Given the description of an element on the screen output the (x, y) to click on. 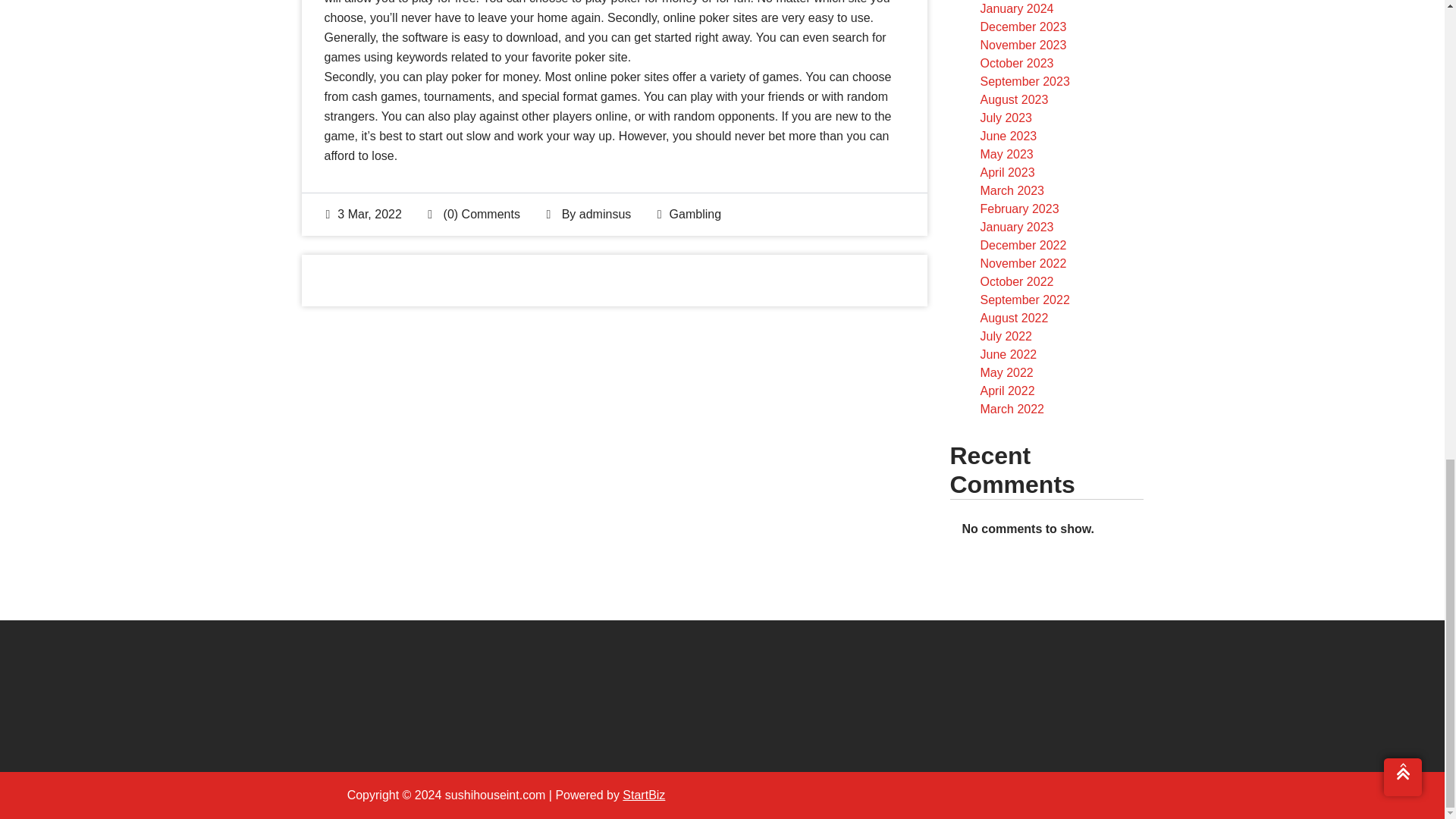
adminsus (604, 214)
September 2023 (1023, 81)
3 Mar, 2022 (363, 214)
January 2024 (1015, 8)
November 2023 (1022, 44)
December 2023 (1022, 26)
October 2023 (1015, 62)
August 2023 (1013, 99)
Gambling (694, 214)
